Given the description of an element on the screen output the (x, y) to click on. 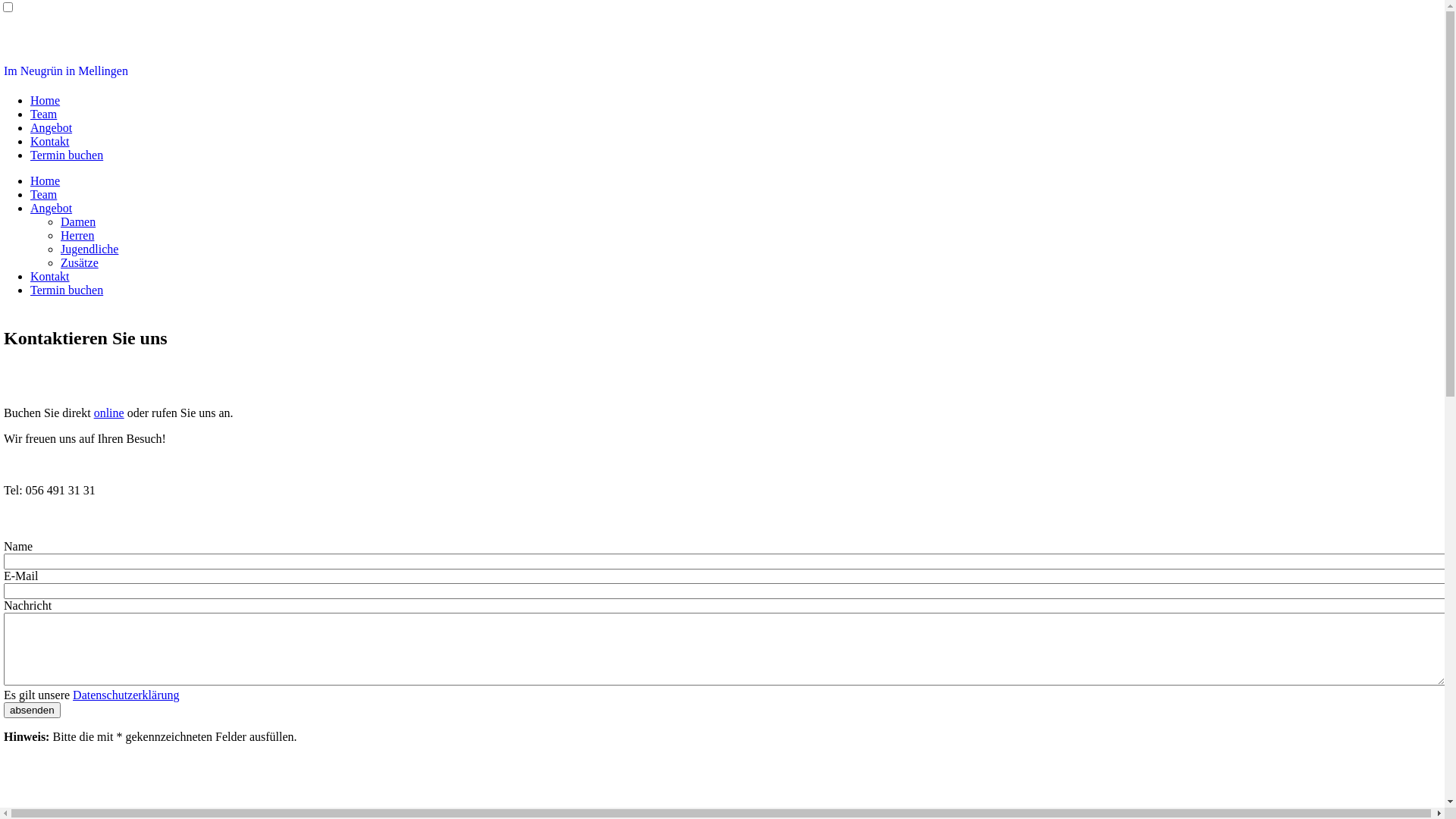
Kontakt Element type: text (49, 140)
Team Element type: text (43, 194)
Jugendliche Element type: text (89, 248)
Angebot Element type: text (51, 207)
Home Element type: text (44, 180)
Termin buchen Element type: text (66, 154)
Angebot Element type: text (51, 127)
Team Element type: text (43, 113)
online Element type: text (109, 412)
Herren Element type: text (77, 235)
Home Element type: text (44, 100)
Termin buchen Element type: text (66, 289)
absenden Element type: text (31, 710)
Kontakt Element type: text (49, 275)
Damen Element type: text (77, 221)
